Given the description of an element on the screen output the (x, y) to click on. 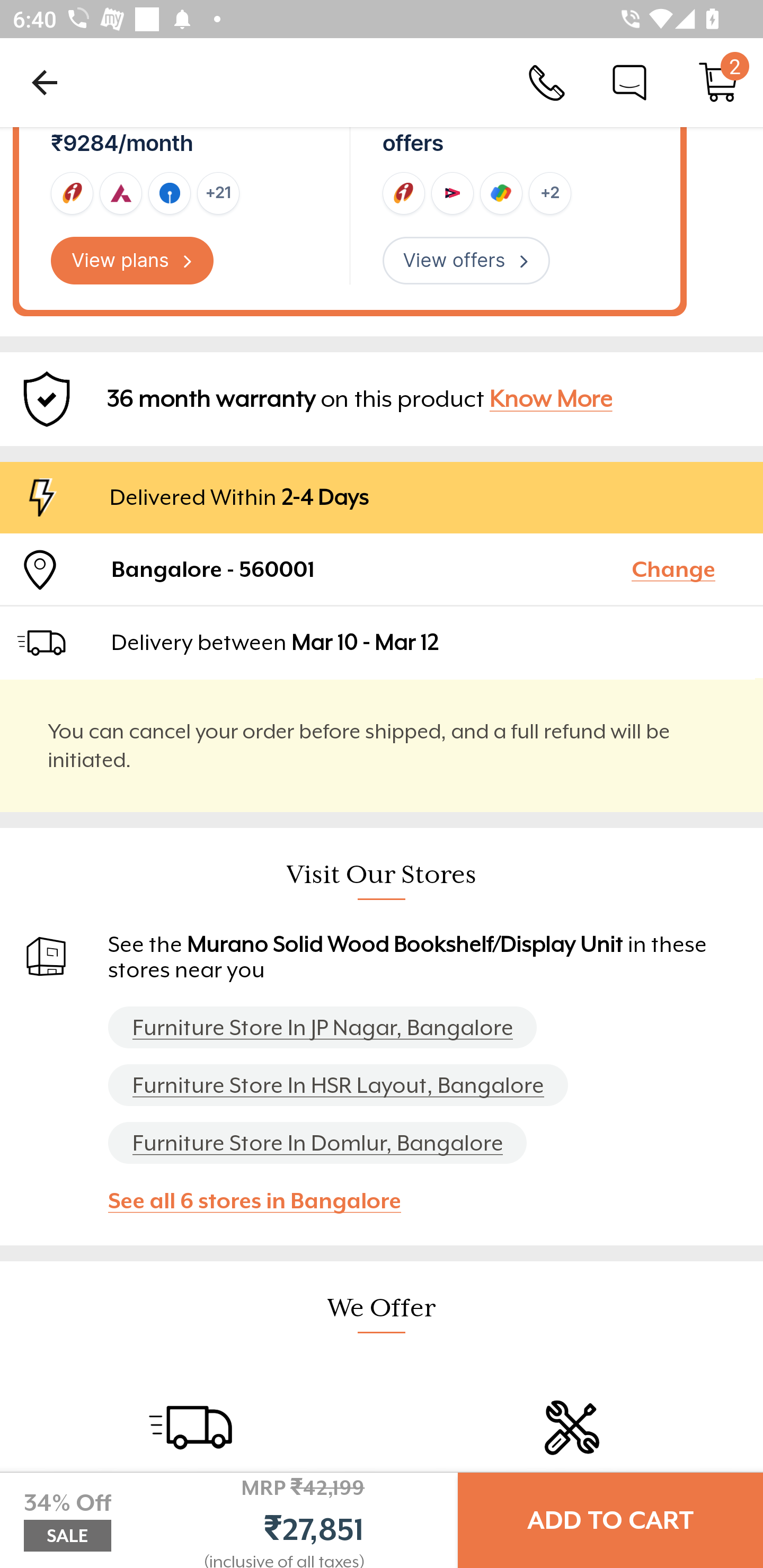
Navigate up (44, 82)
Call Us (546, 81)
Chat (629, 81)
Cart (718, 81)
View plans (132, 260)
View offers (465, 260)
36 month warranty on this product Know More (381, 398)
 Bangalore - 560001 Change (381, 569)
Delivery between Mar 10 - Mar 12 (428, 641)
Furniture Store In JP Nagar, Bangalore (322, 1027)
Furniture Store In HSR Layout, Bangalore (337, 1084)
Furniture Store In Domlur, Bangalore (317, 1142)
See all 6 stores in Bangalore (262, 1200)
ADD TO CART (610, 1520)
